Given the description of an element on the screen output the (x, y) to click on. 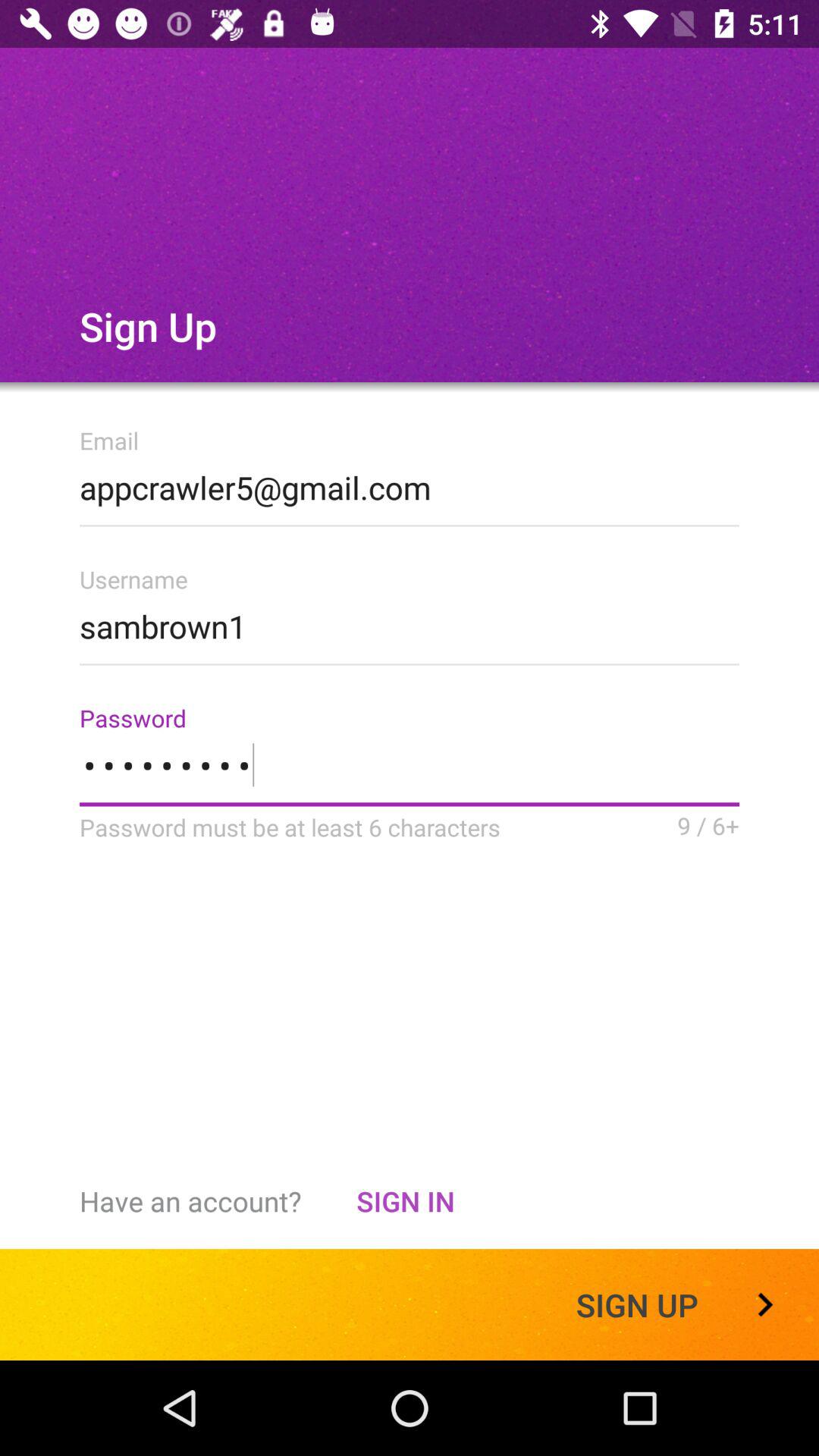
tap item to the right of the have an account? item (405, 1200)
